Given the description of an element on the screen output the (x, y) to click on. 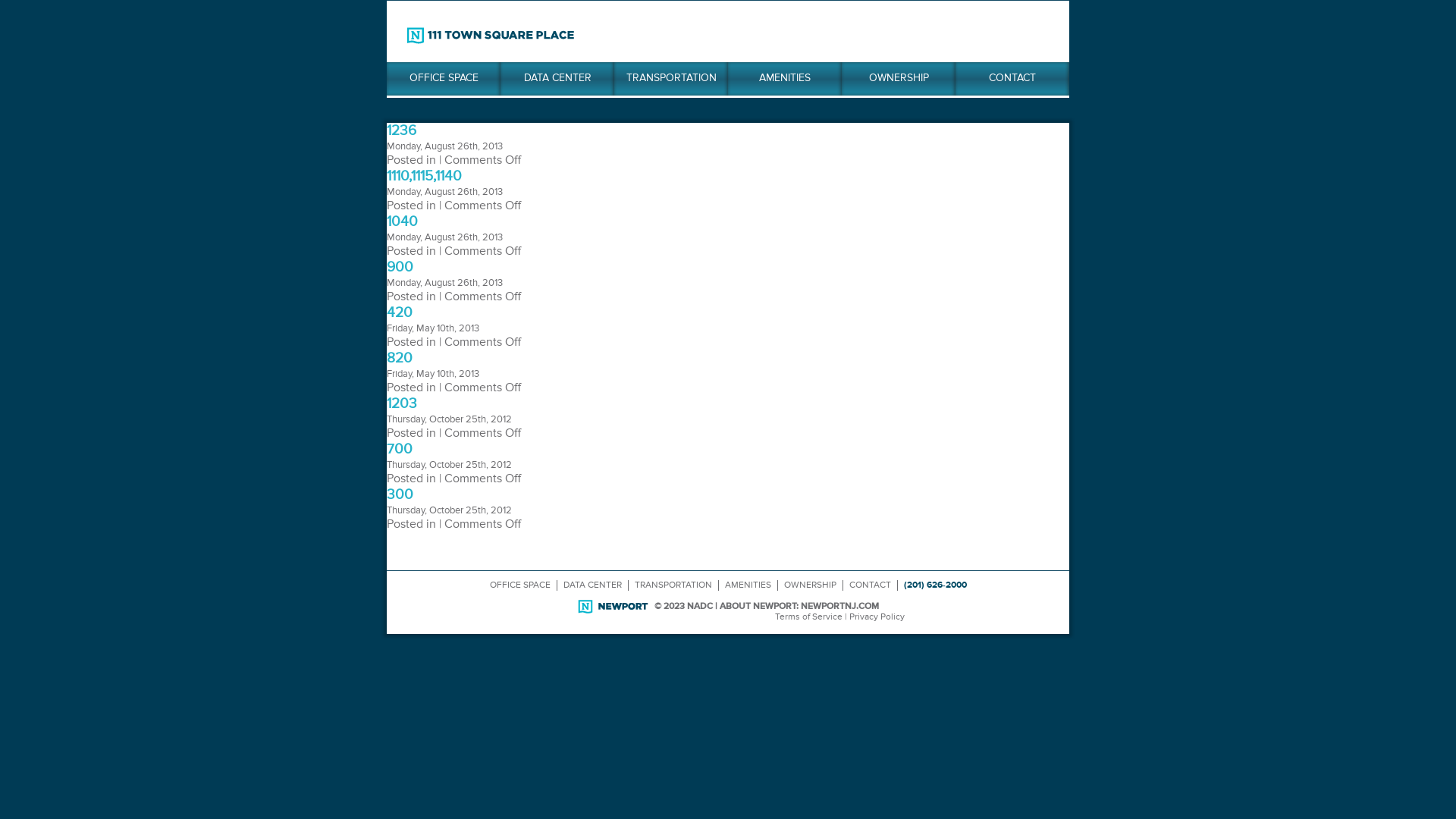
Privacy Policy Element type: text (876, 616)
1110,1115,1140 Element type: text (423, 176)
Terms of Service Element type: text (808, 616)
OFFICE SPACE Element type: text (519, 584)
AMENITIES Element type: text (747, 584)
DATA CENTER Element type: text (591, 584)
AMENITIES Element type: text (784, 78)
420 Element type: text (399, 312)
CONTACT Element type: text (1012, 78)
1203 Element type: text (401, 403)
TRANSPORTATION Element type: text (672, 584)
NEWPORT Element type: hover (612, 606)
OWNERSHIP Element type: text (898, 78)
820 Element type: text (399, 358)
CONTACT Element type: text (870, 584)
NEWPORTNJ.COM Element type: text (839, 606)
DATA CENTER Element type: text (557, 78)
700 Element type: text (399, 449)
OFFICE SPACE Element type: text (443, 78)
900 Element type: text (399, 267)
111 Town Square Place Element type: hover (490, 35)
OWNERSHIP Element type: text (810, 584)
1236 Element type: text (401, 130)
1040 Element type: text (401, 221)
TRANSPORTATION Element type: text (671, 78)
(201) 626-2000 Element type: text (934, 584)
300 Element type: text (399, 494)
